Given the description of an element on the screen output the (x, y) to click on. 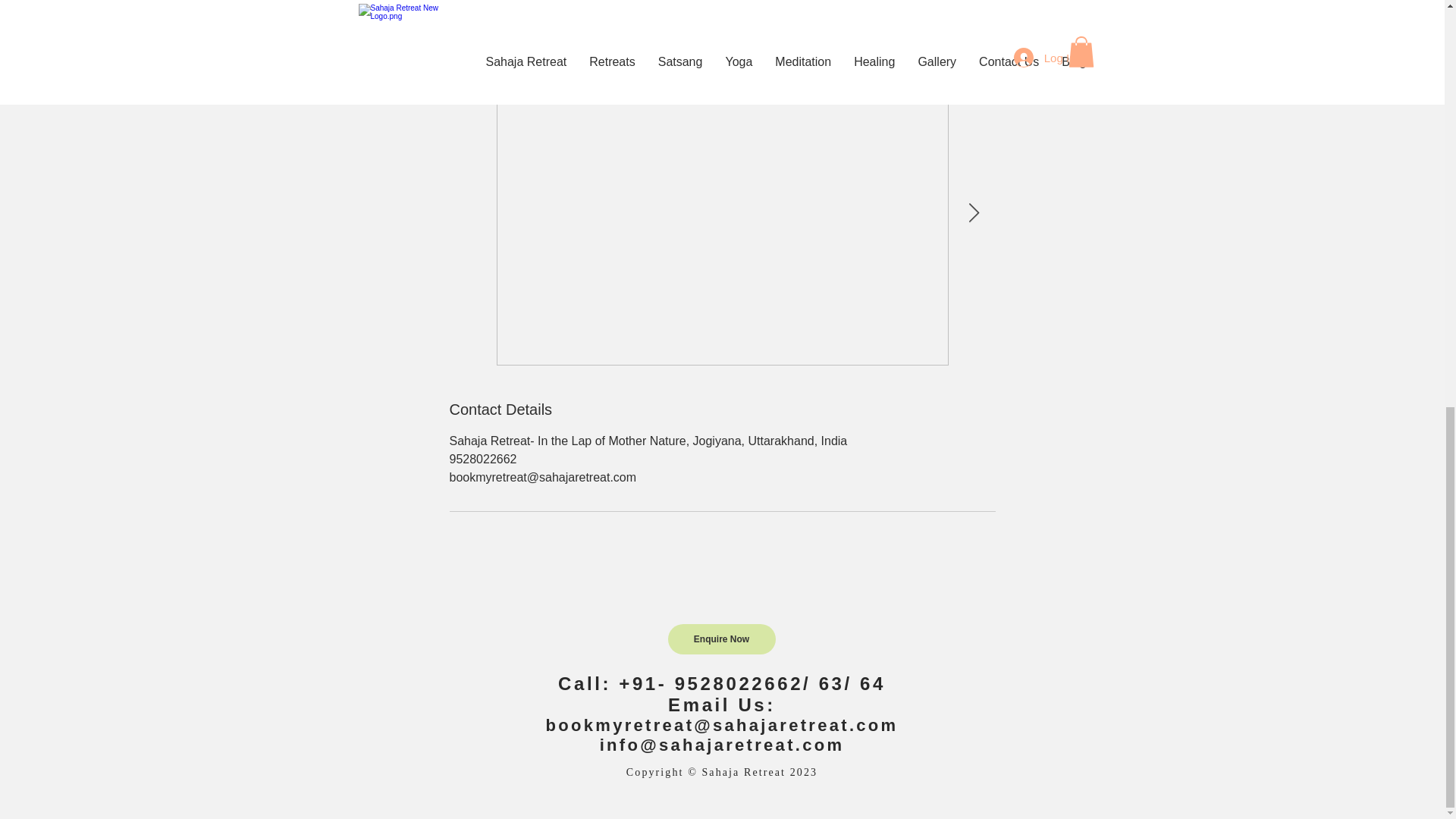
Enquire Now (720, 639)
